Given the description of an element on the screen output the (x, y) to click on. 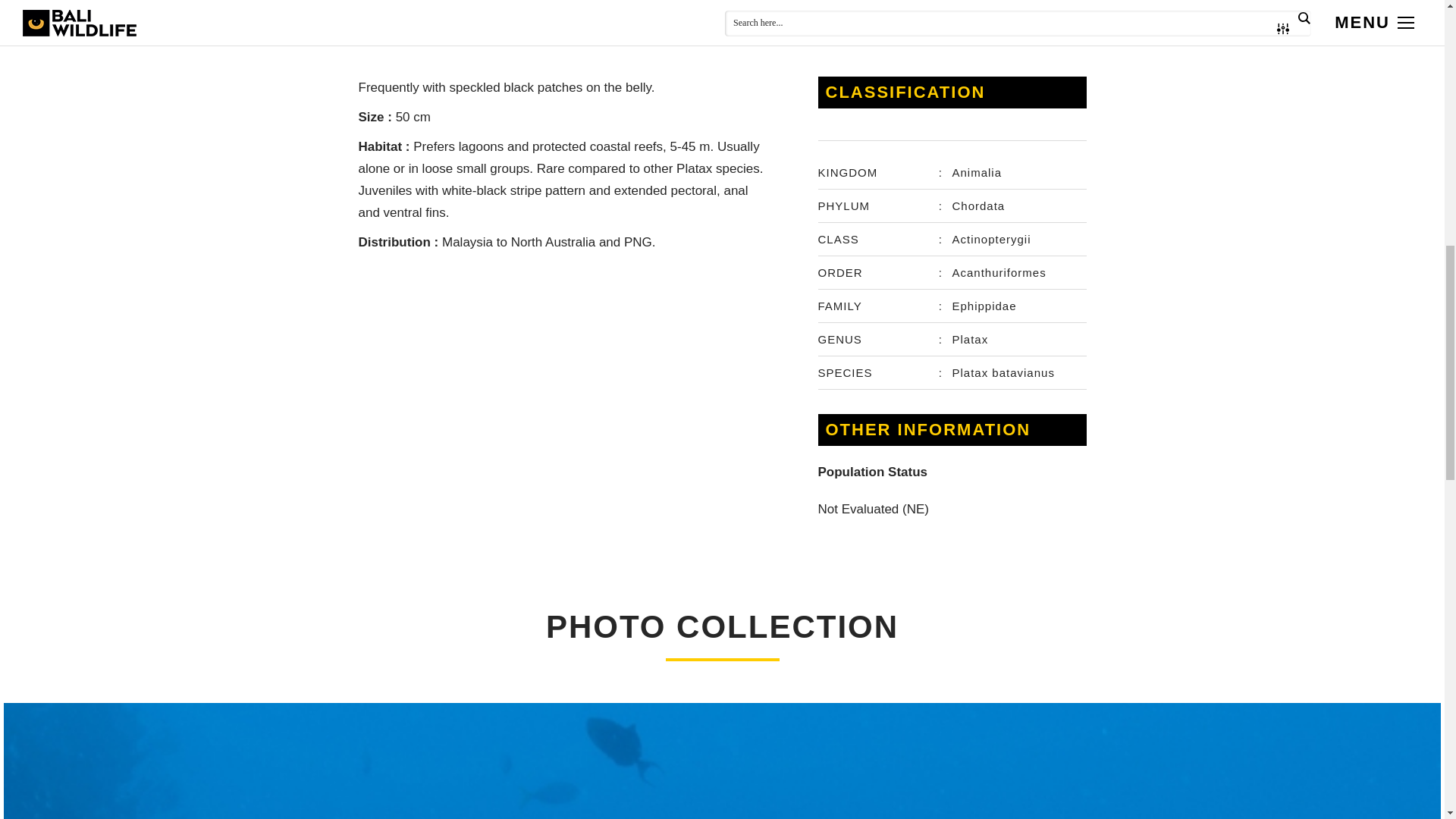
Encyclopedia (434, 11)
Spadefishes (686, 11)
Ray-finned Fishes (596, 11)
Marine Life (509, 11)
Home (373, 11)
